Given the description of an element on the screen output the (x, y) to click on. 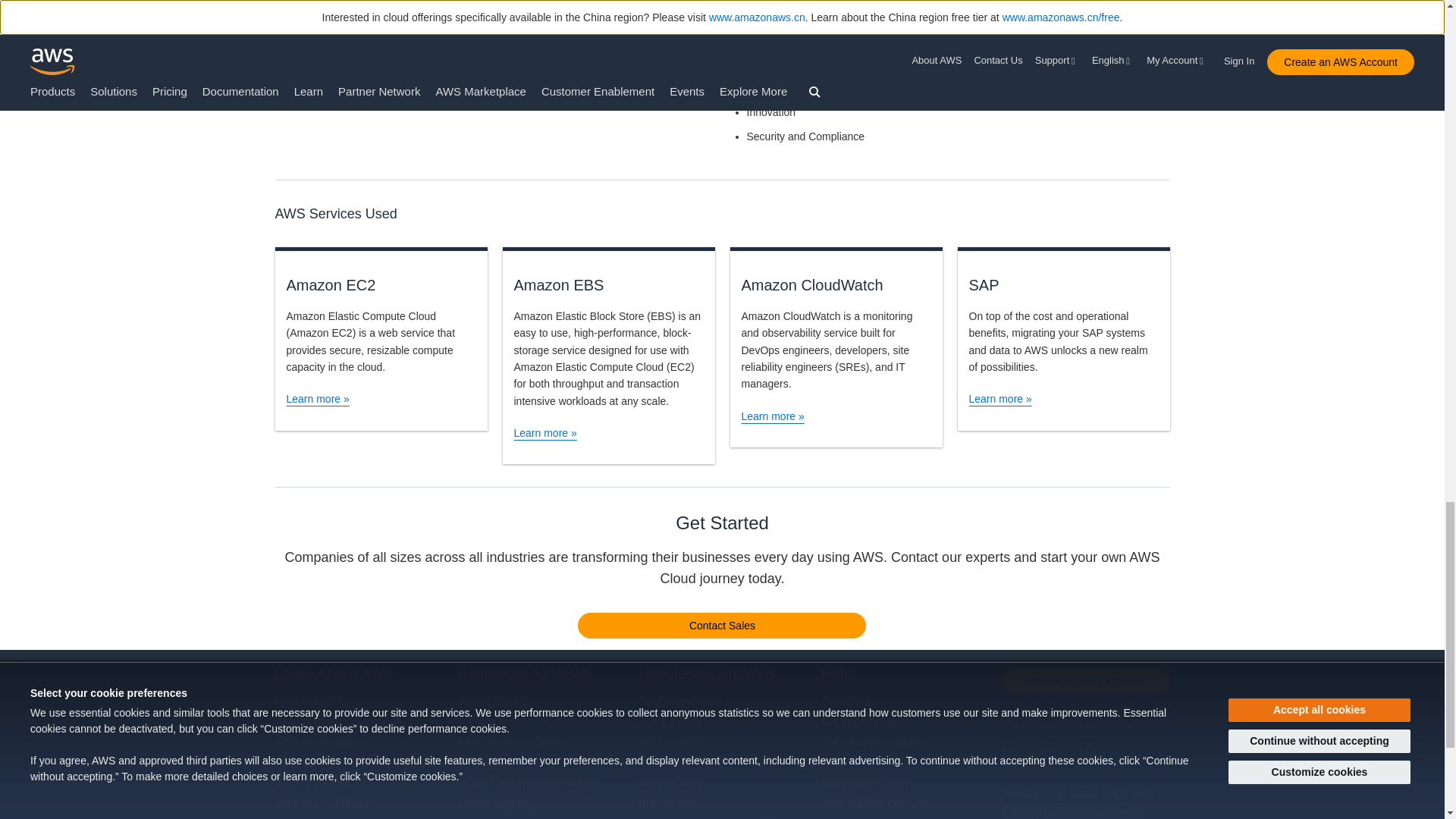
YouTube (1065, 751)
Email (1149, 751)
Twitter (1023, 721)
Instagram (1149, 721)
Podcast (1106, 751)
Linkedin (1106, 721)
Facebook (1065, 721)
Twitch (1023, 751)
